Given the description of an element on the screen output the (x, y) to click on. 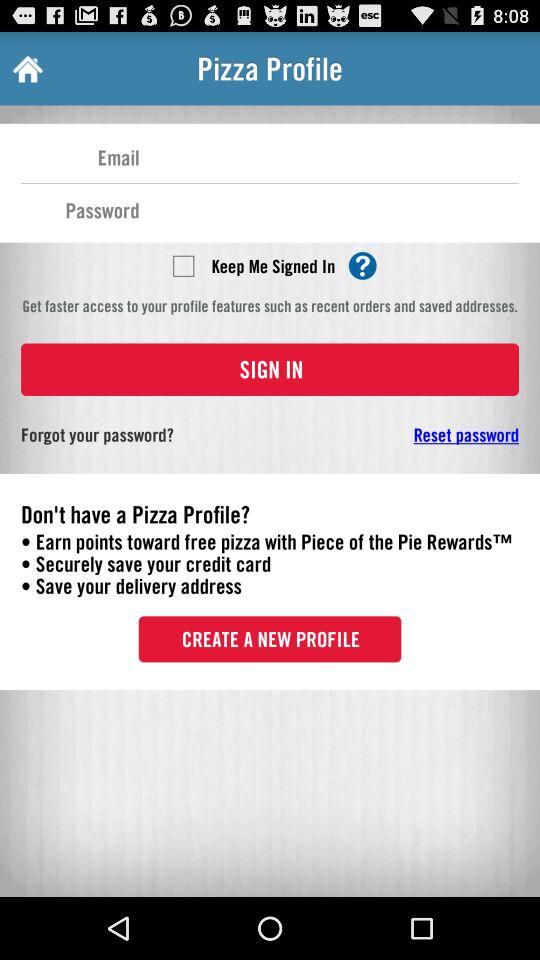
help (362, 265)
